Given the description of an element on the screen output the (x, y) to click on. 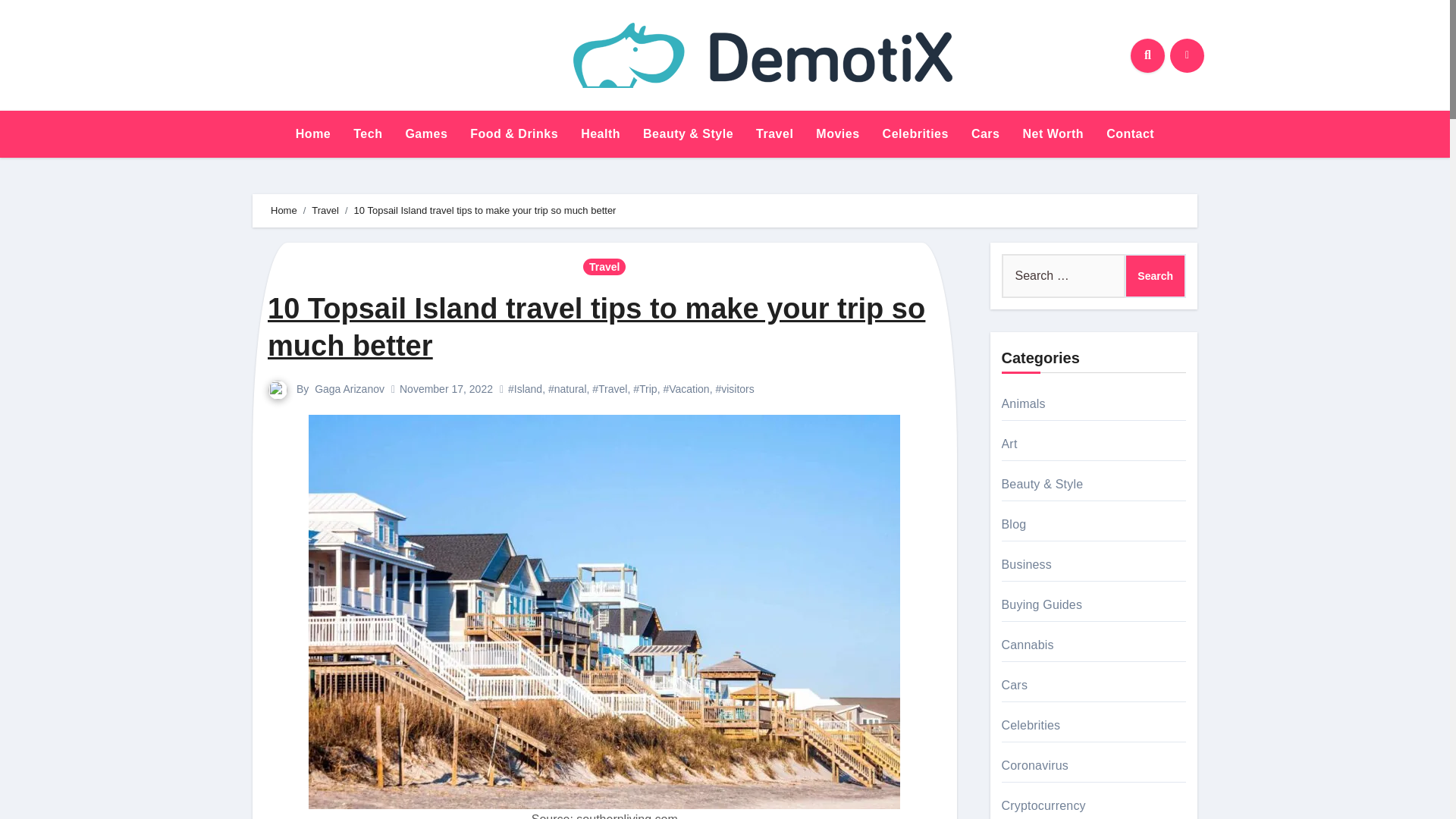
Net Worth (1052, 133)
Movies (837, 133)
Cars (985, 133)
Health (600, 133)
Gaga Arizanov (349, 388)
Games (425, 133)
Home (283, 210)
Travel (604, 266)
Search (1155, 275)
Search (1155, 275)
